Given the description of an element on the screen output the (x, y) to click on. 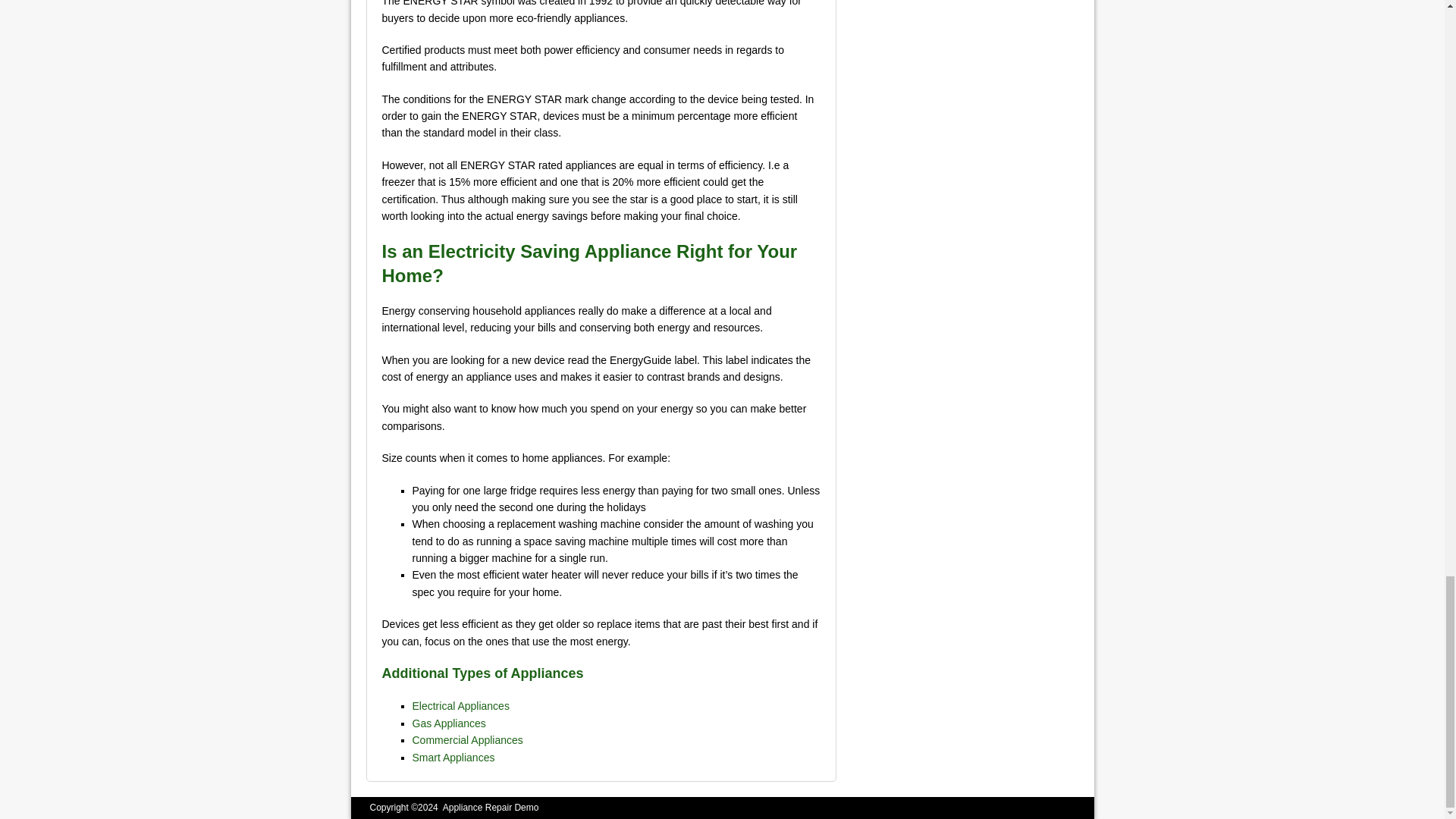
Smart Appliances (453, 757)
Electrical Appliances (460, 705)
Commercial Appliances (467, 739)
Gas Appliances (449, 723)
